Given the description of an element on the screen output the (x, y) to click on. 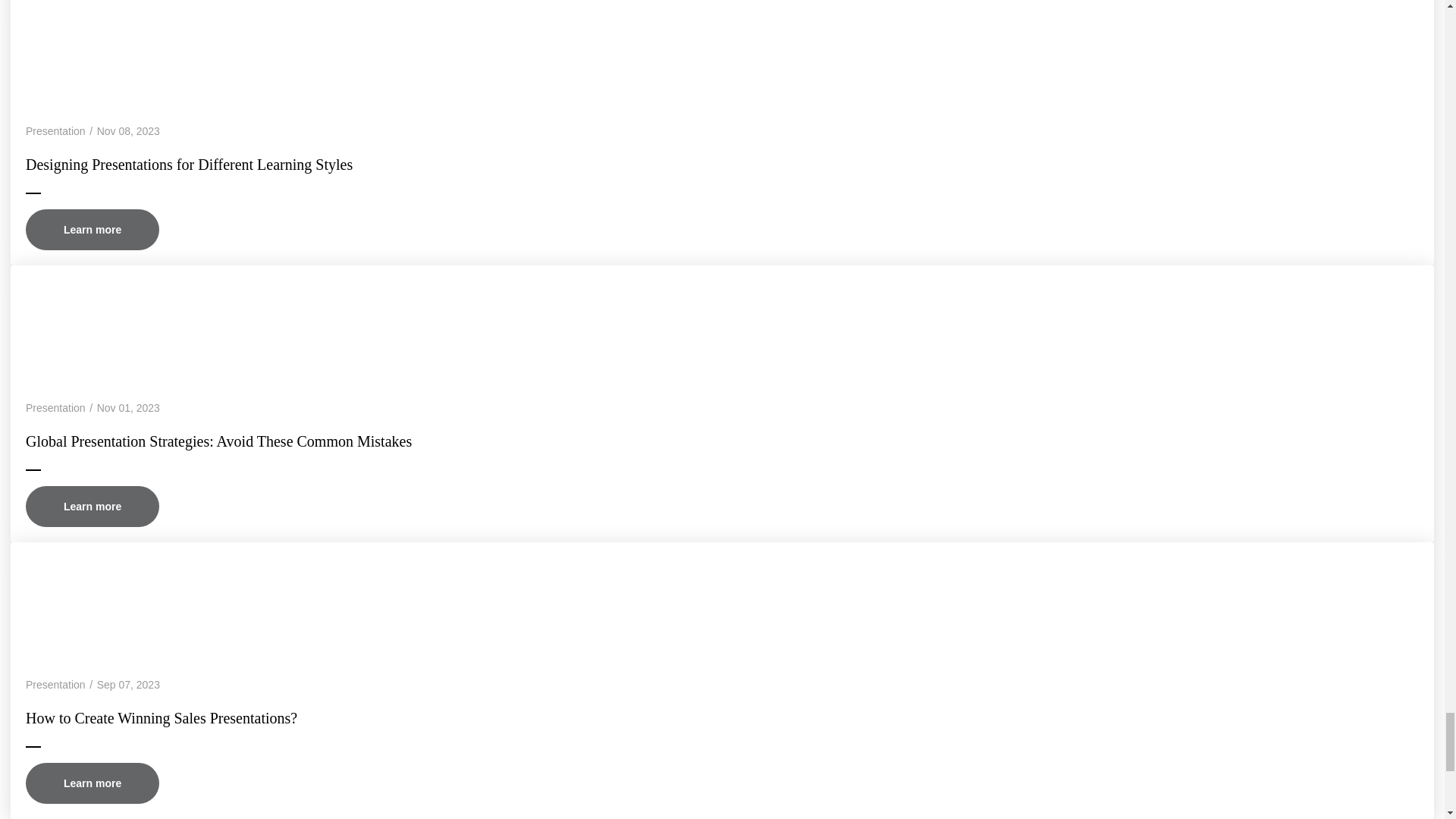
Designing Presentations for Different Learning Styles (721, 51)
Global Presentation Strategies: Avoid These Common Mistakes (721, 322)
How to Create Winning Sales Presentations? (721, 599)
